Given the description of an element on the screen output the (x, y) to click on. 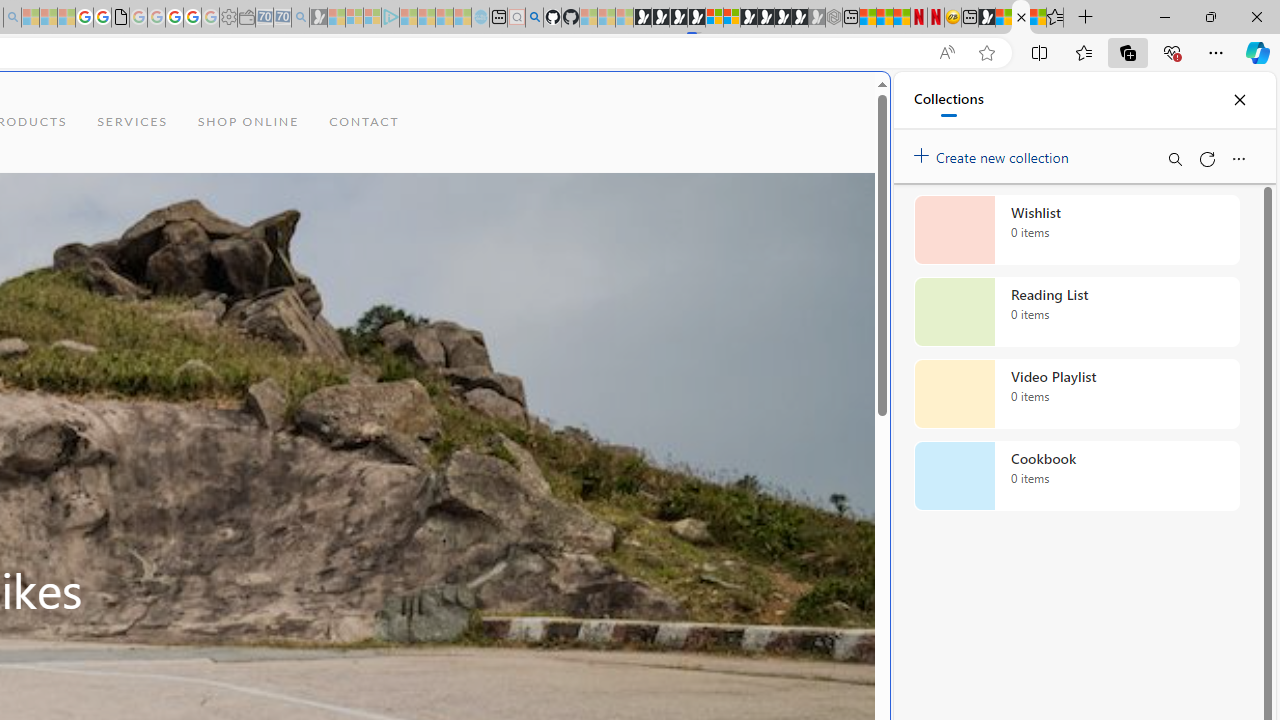
Sign in to your account (714, 17)
Cookbook collection, 0 items (1076, 475)
